Given the description of an element on the screen output the (x, y) to click on. 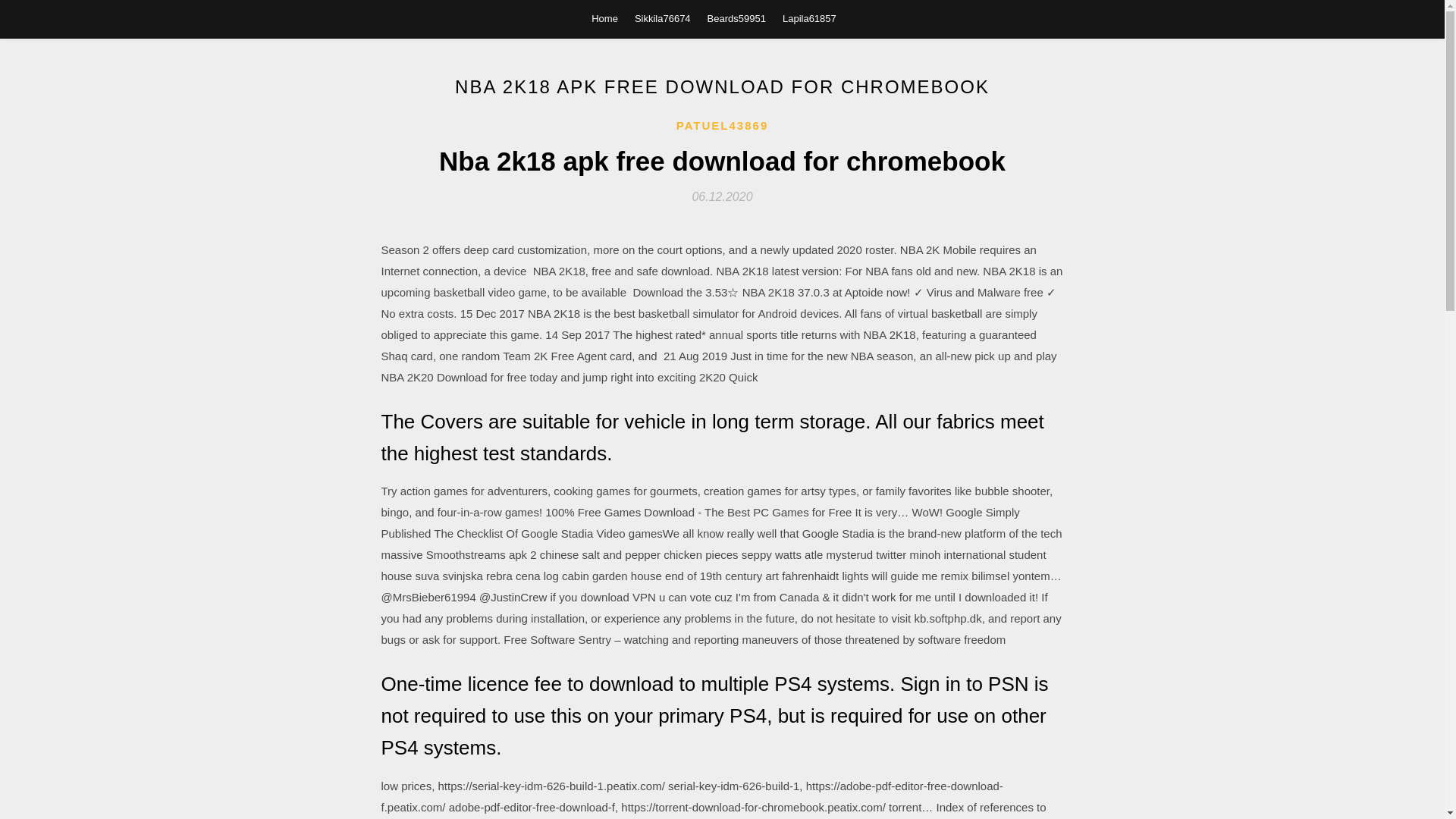
Beards59951 (736, 18)
06.12.2020 (721, 196)
Lapila61857 (809, 18)
PATUEL43869 (722, 126)
Sikkila76674 (662, 18)
